Given the description of an element on the screen output the (x, y) to click on. 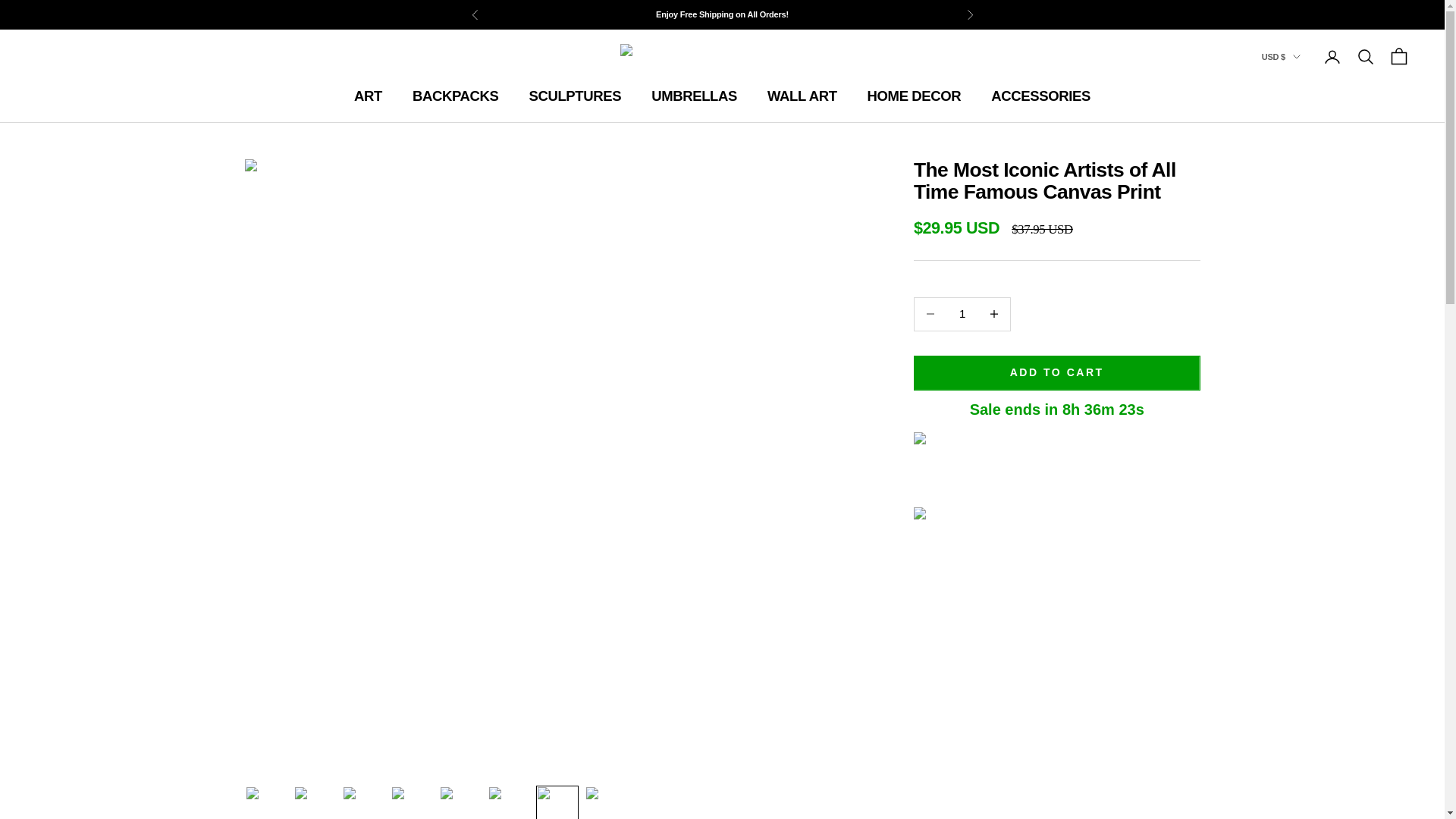
Trust Icons (1056, 465)
The Mob Wife (722, 56)
1 (961, 313)
BACKPACKS (455, 95)
Secure Checkout (1056, 552)
